Given the description of an element on the screen output the (x, y) to click on. 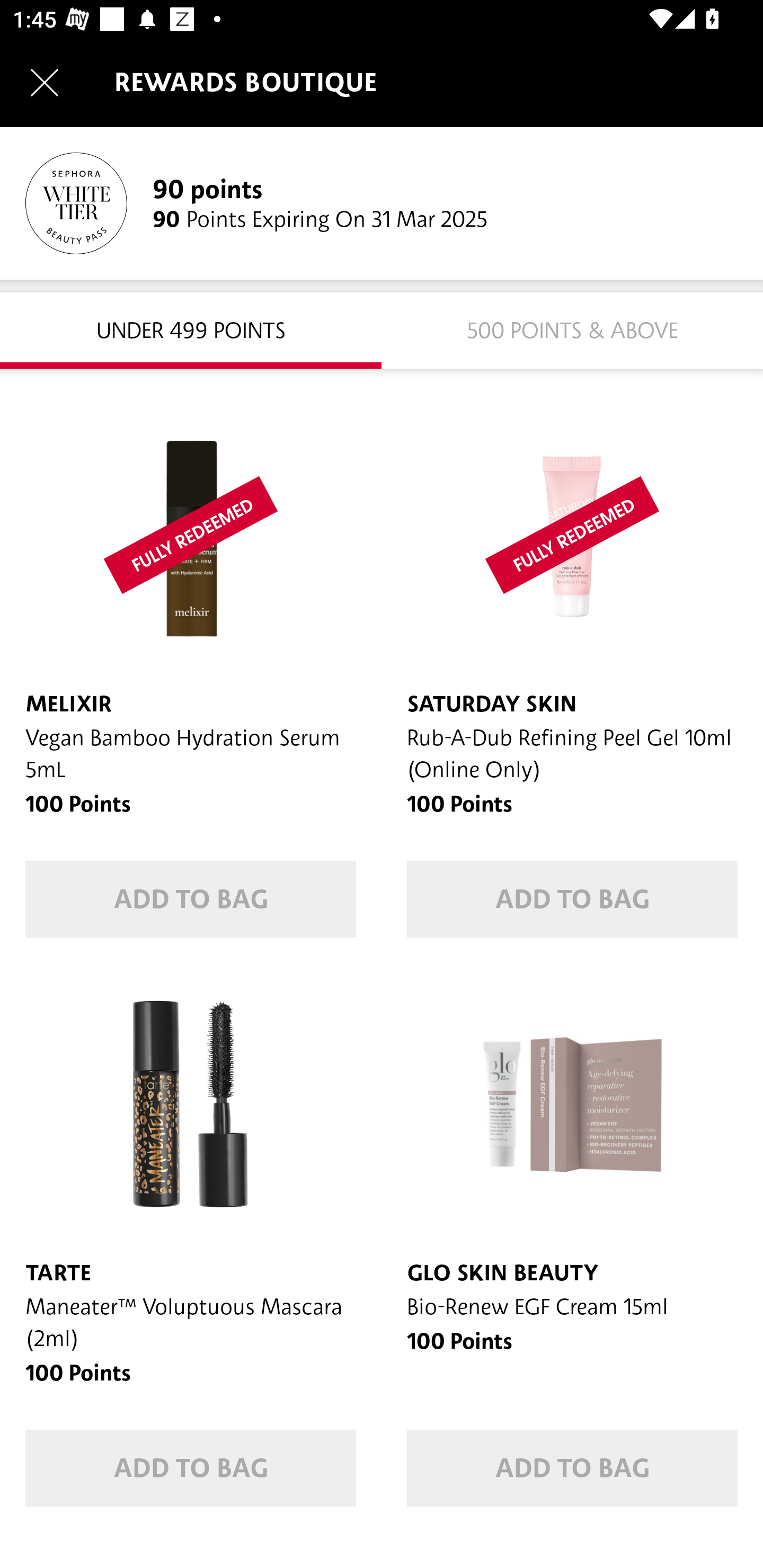
Navigate up (44, 82)
500 Points & Above 500 POINTS & ABOVE (572, 329)
ADD TO BAG (190, 898)
ADD TO BAG (571, 898)
ADD TO BAG (190, 1468)
ADD TO BAG (571, 1468)
